Given the description of an element on the screen output the (x, y) to click on. 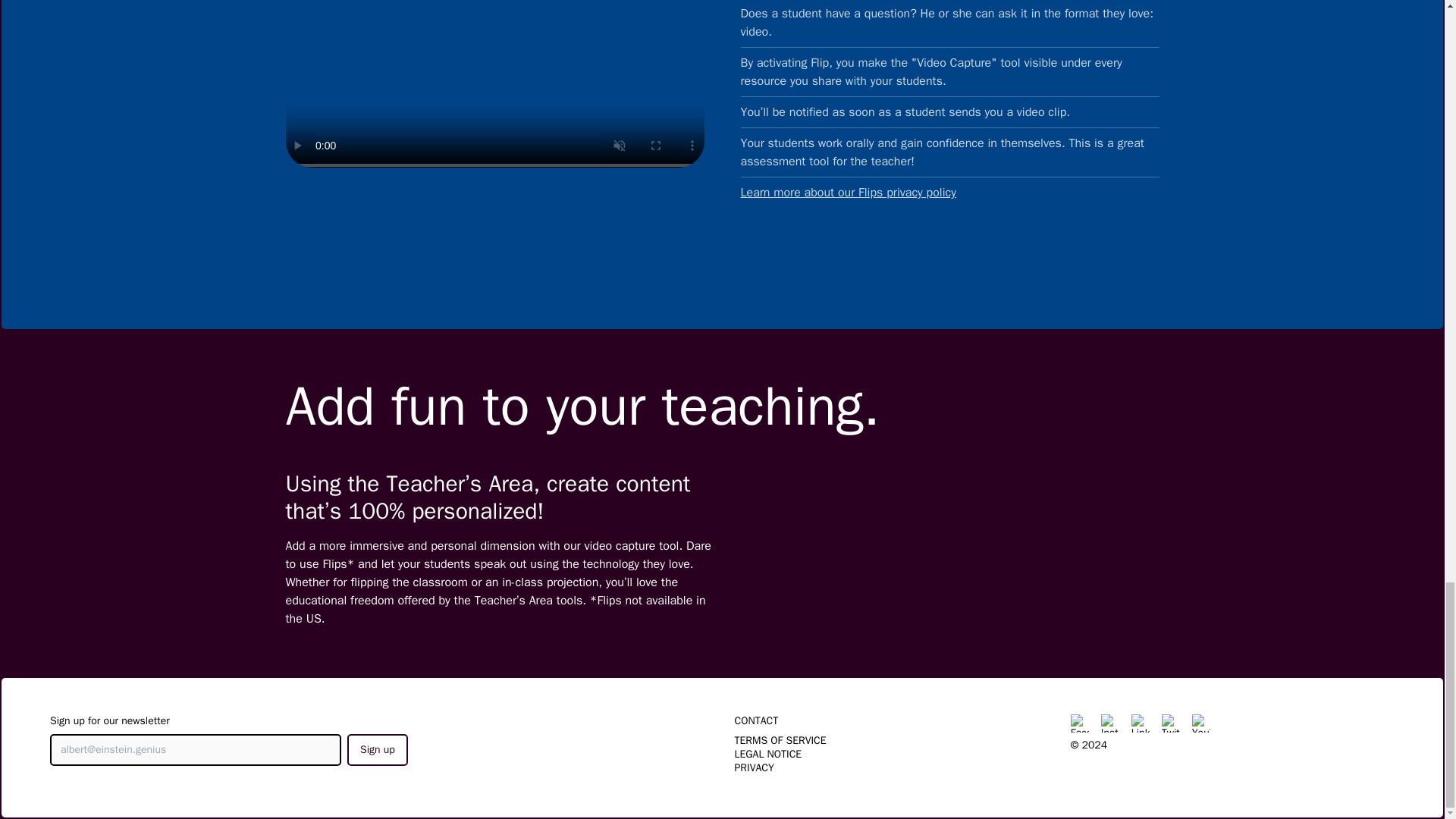
LEGAL NOTICE (767, 753)
TERMS OF SERVICE (779, 739)
CONTACT (755, 720)
Sign up (377, 749)
PRIVACY (753, 767)
Learn more about our Flips privacy policy (948, 192)
